Given the description of an element on the screen output the (x, y) to click on. 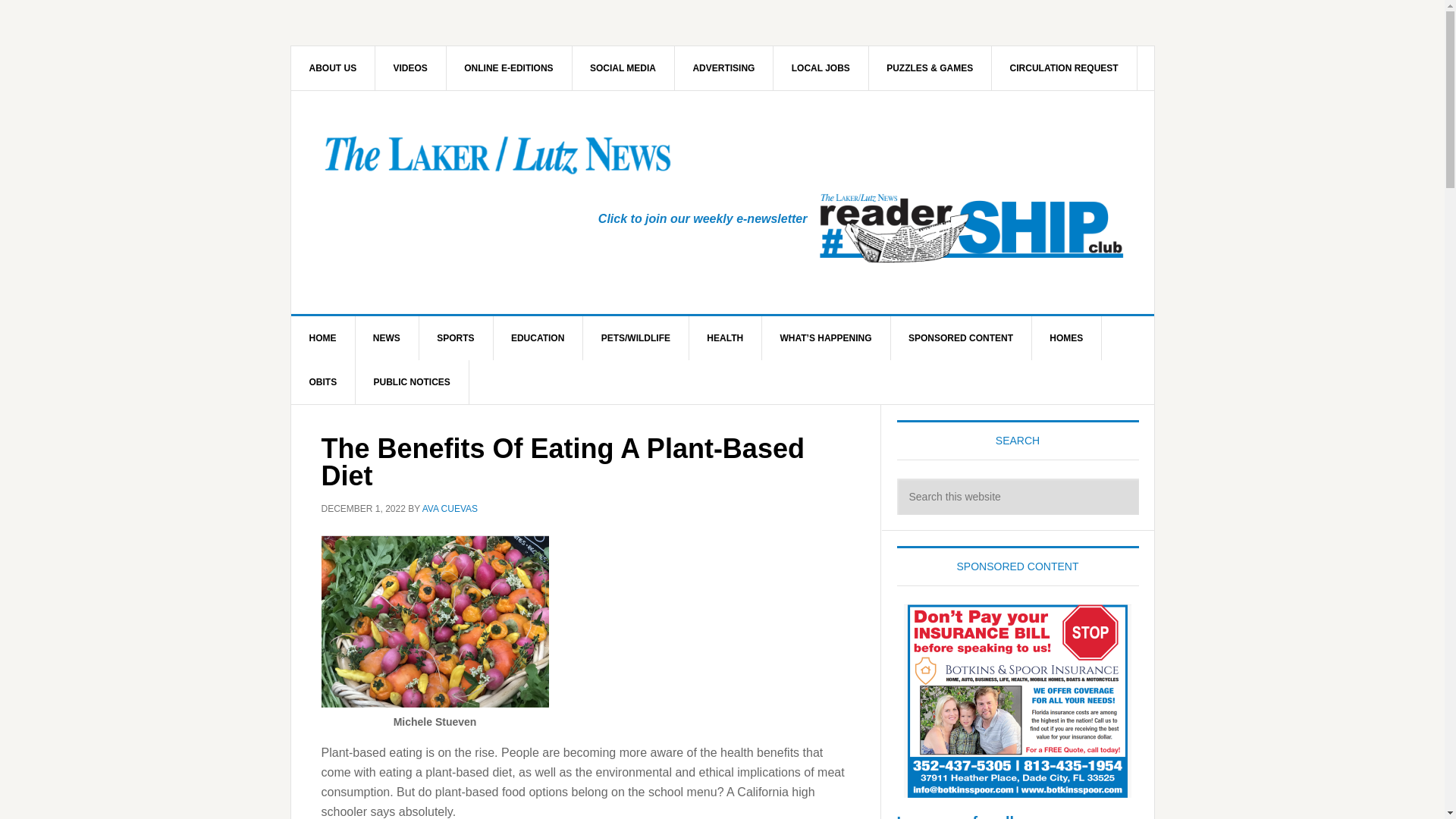
HOME (323, 338)
LOCAL JOBS (821, 67)
SOCIAL MEDIA (623, 67)
NEWS (387, 338)
VIDEOS (410, 67)
CIRCULATION REQUEST (1064, 67)
ADVERTISING (723, 67)
ONLINE E-EDITIONS (508, 67)
Click to join our weekly e-newsletter (703, 218)
ABOUT US (333, 67)
